Given the description of an element on the screen output the (x, y) to click on. 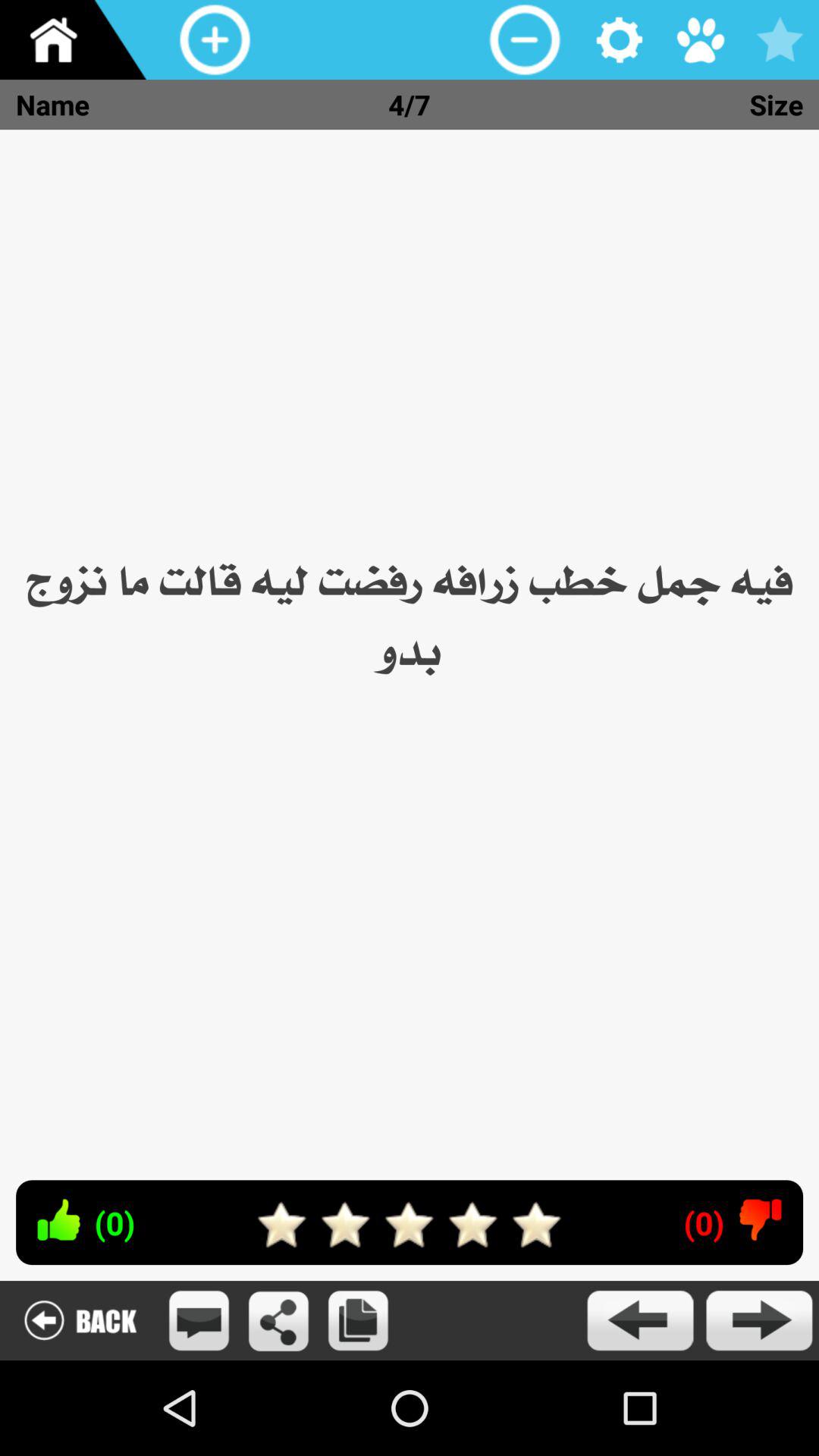
touch to share (278, 1320)
